Given the description of an element on the screen output the (x, y) to click on. 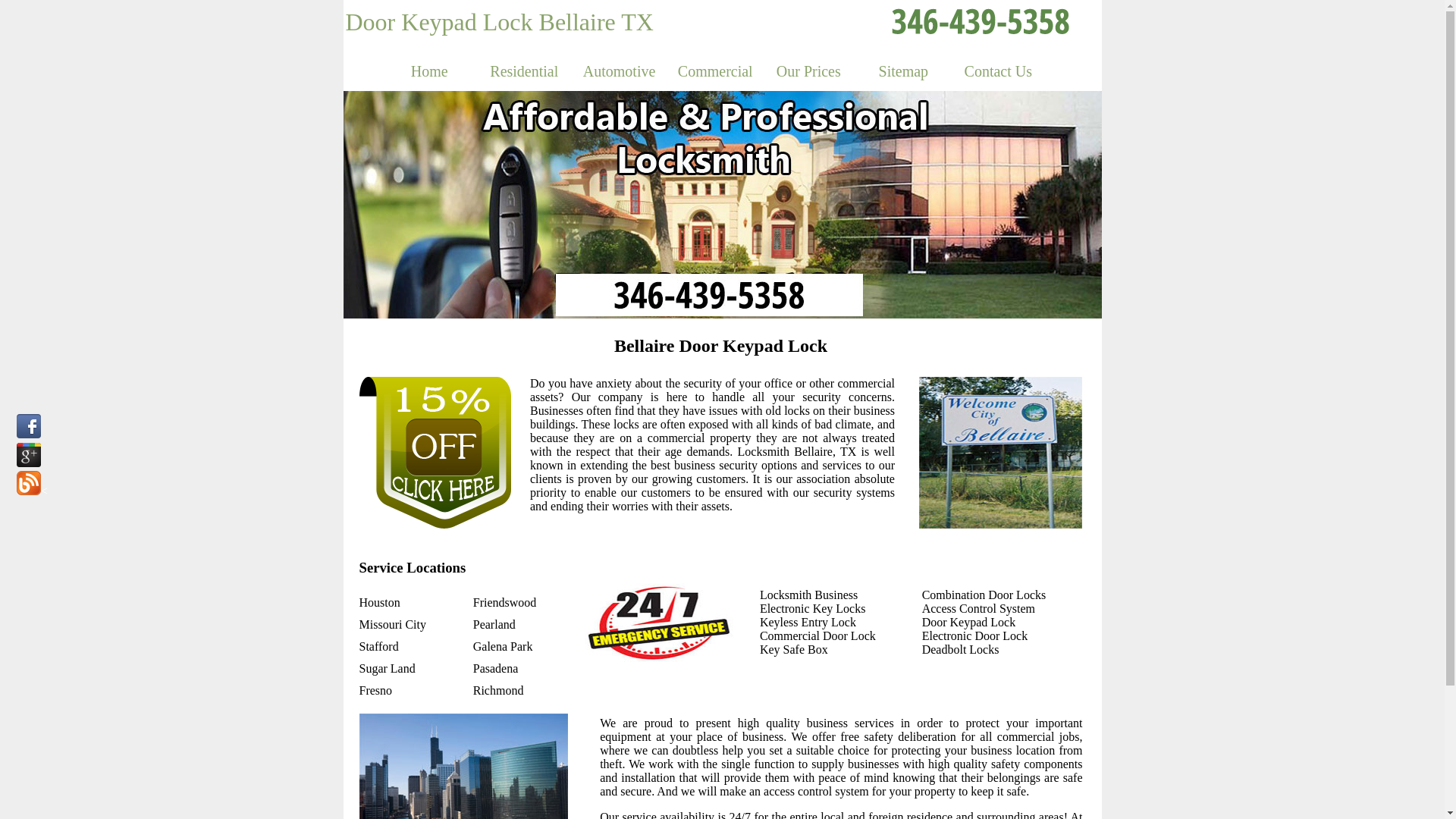
Commercial Door Lock Element type: text (817, 635)
Our Prices Element type: text (808, 71)
Home Element type: text (429, 71)
Automotive Element type: text (618, 71)
Contact Us Element type: text (997, 71)
Combination Door Locks Element type: text (984, 594)
Stafford Element type: text (378, 646)
Key Safe Box Element type: text (793, 649)
Sugar Land Element type: text (387, 668)
Electronic Door Lock Element type: text (975, 635)
Houston Element type: text (379, 602)
Deadbolt Locks Element type: text (960, 649)
Electronic Key Locks Element type: text (812, 608)
Locksmith Business Element type: text (808, 594)
Sitemap Element type: text (903, 71)
Door Keypad Lock Element type: text (969, 621)
Missouri City Element type: text (392, 624)
Access Control System Element type: text (978, 608)
Keyless Entry Lock Element type: text (807, 621)
Residential Element type: text (523, 71)
Fresno Element type: text (375, 690)
Commercial Element type: text (713, 71)
